Given the description of an element on the screen output the (x, y) to click on. 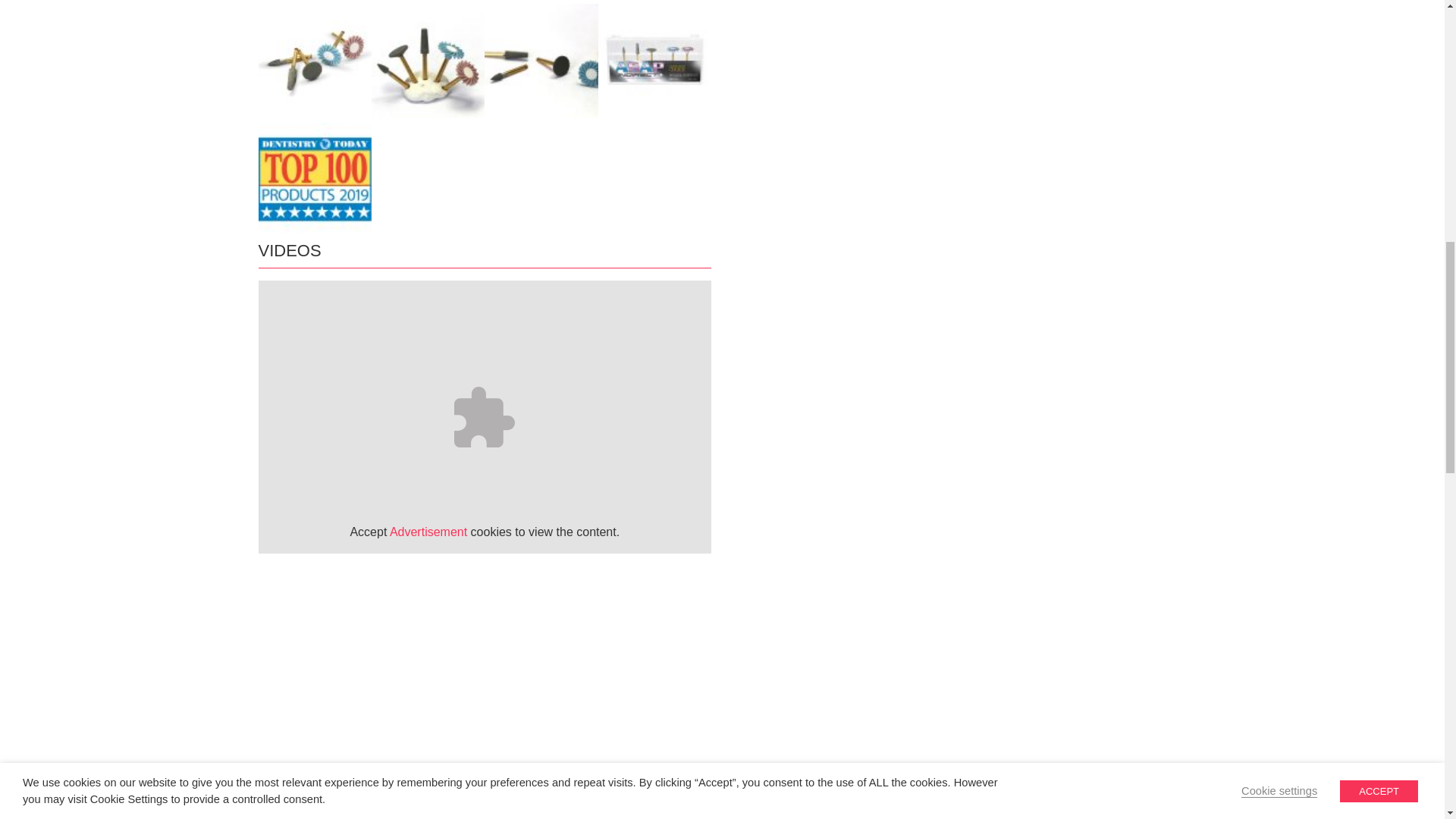
UK1189185OPE (314, 60)
UK1189185OPF (427, 60)
UK1189185OPG (540, 60)
UK1189185OPH (654, 60)
UK1189185OPI (314, 178)
